Given the description of an element on the screen output the (x, y) to click on. 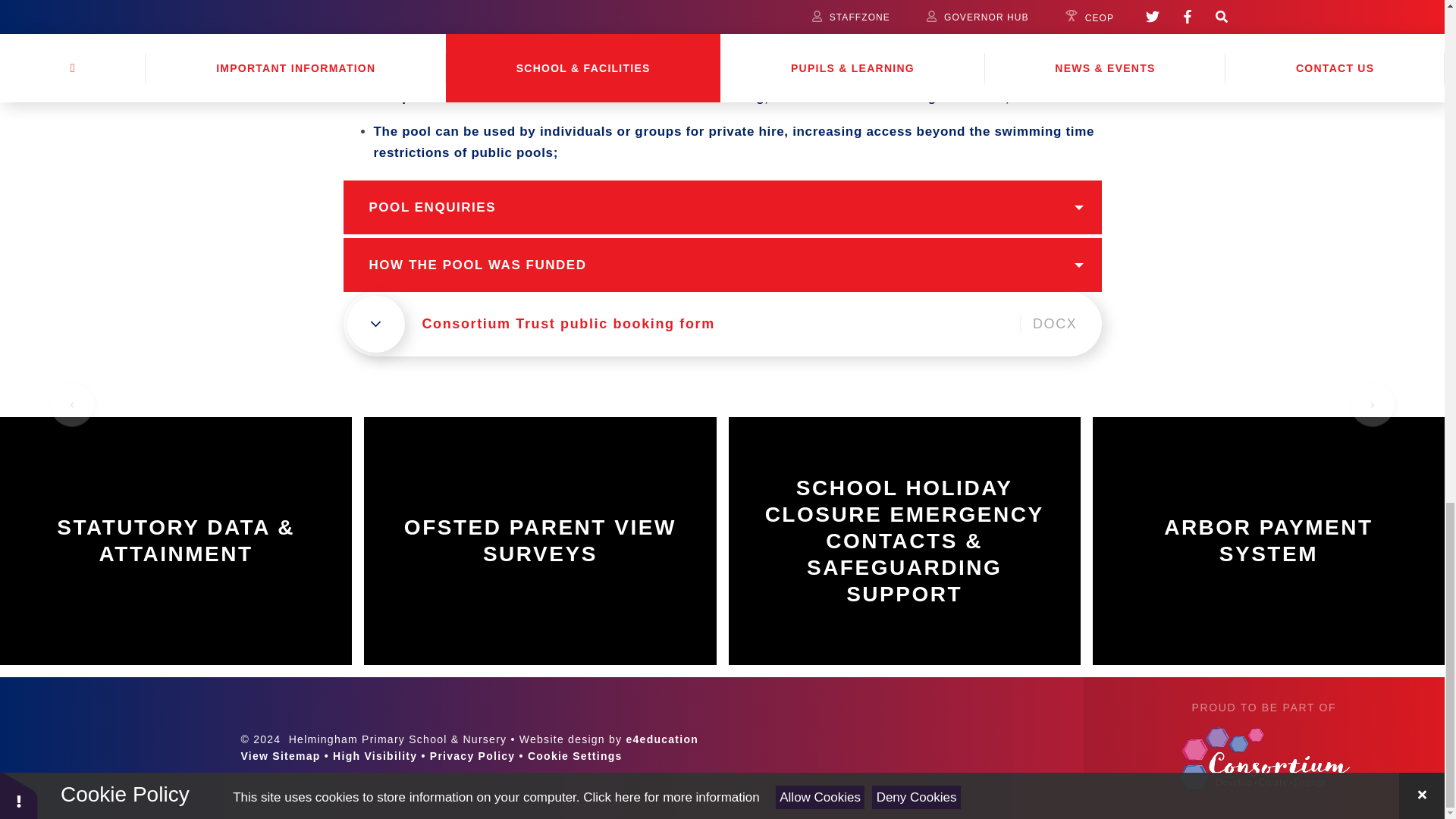
Cookie Settings (575, 756)
